Given the description of an element on the screen output the (x, y) to click on. 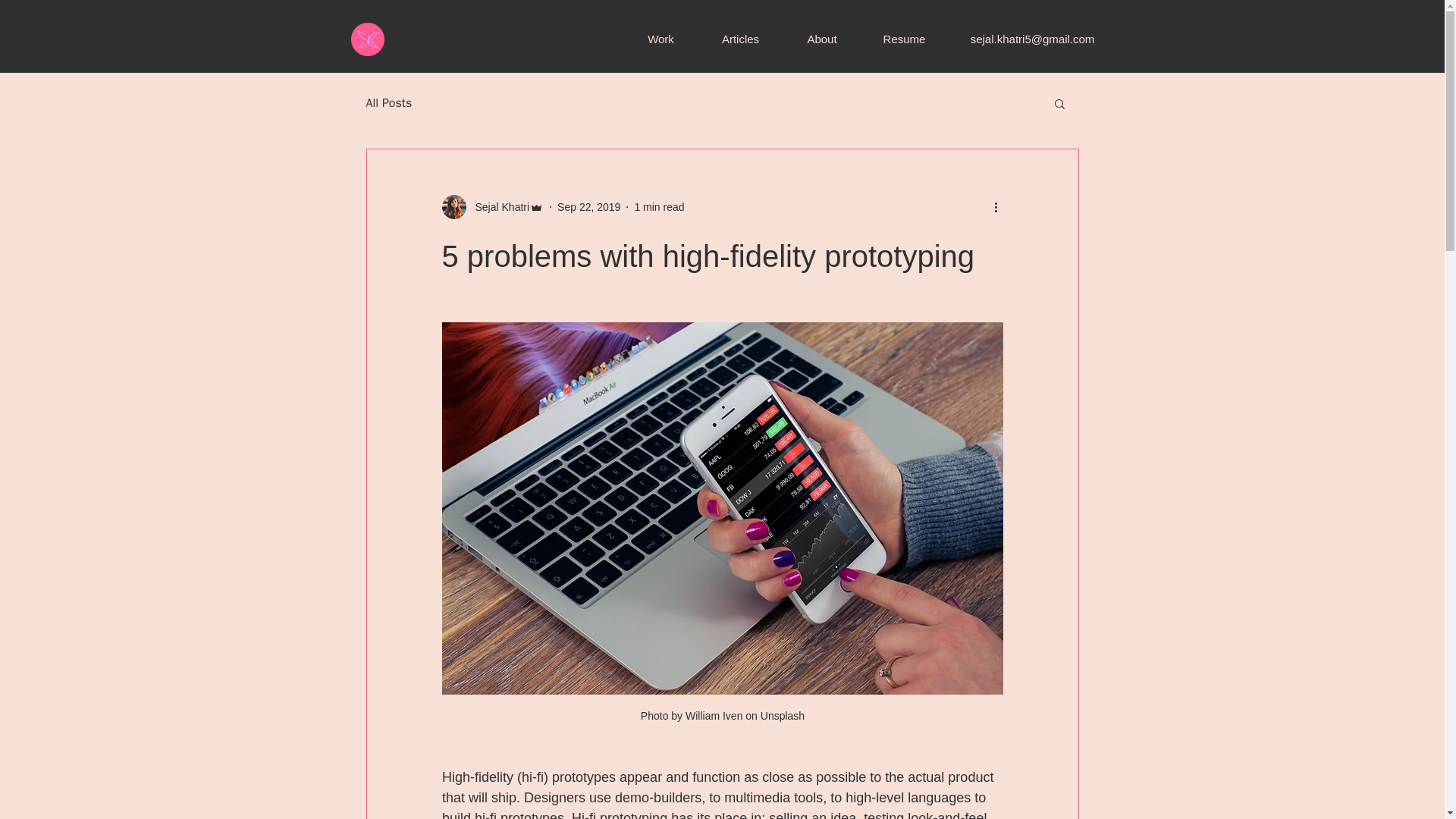
About (821, 39)
1 min read (658, 205)
Sep 22, 2019 (588, 205)
Resume (904, 39)
Sejal Khatri (497, 206)
All Posts (388, 103)
Articles (740, 39)
Work (660, 39)
